Given the description of an element on the screen output the (x, y) to click on. 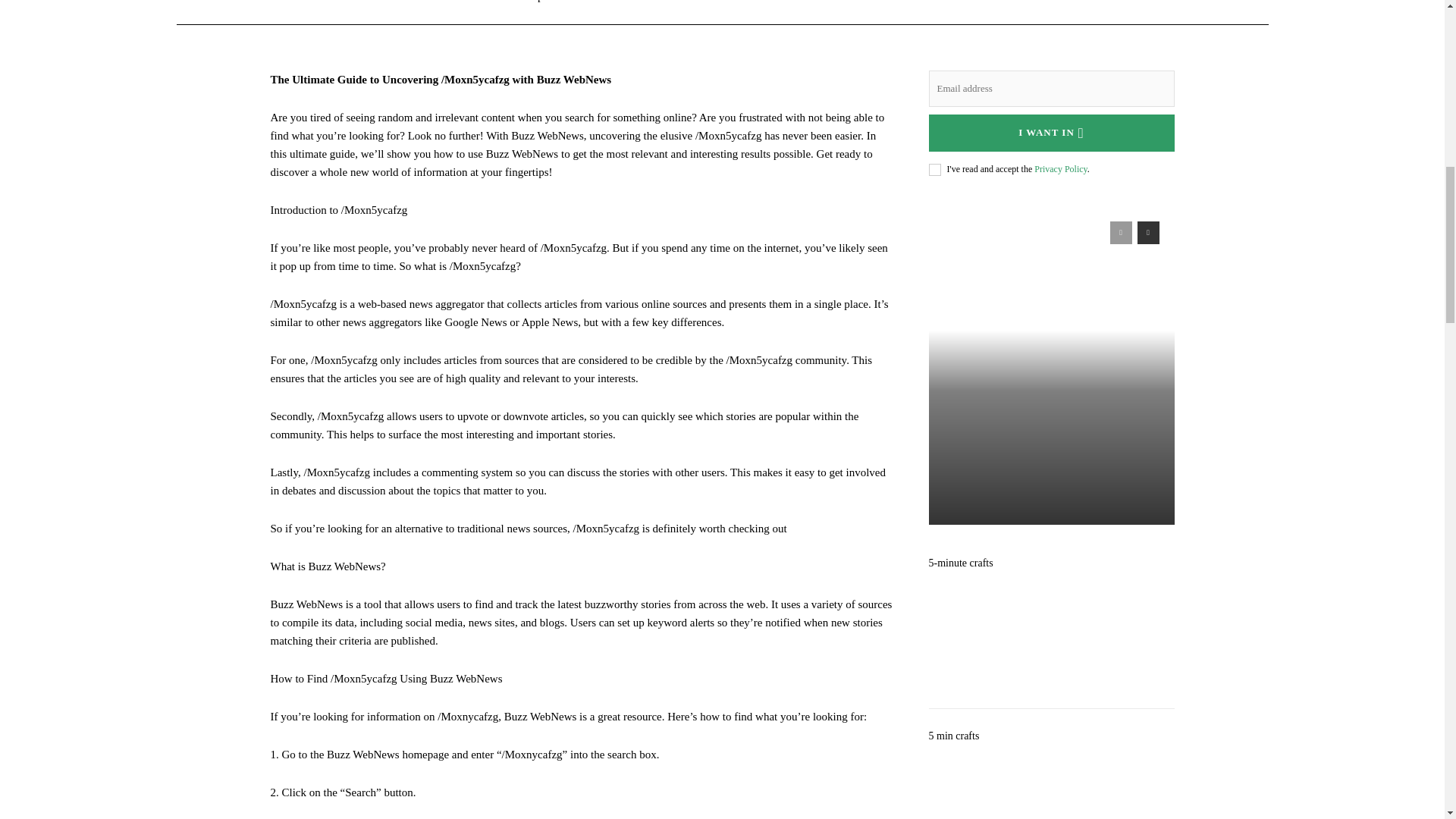
5 min crafts (1050, 783)
5-minute crafts (960, 562)
5-minute crafts (960, 562)
Admin (955, 272)
Privacy Policy (1060, 168)
5-minute crafts (1050, 635)
5 min crafts (953, 736)
I WANT IN (1050, 132)
